Given the description of an element on the screen output the (x, y) to click on. 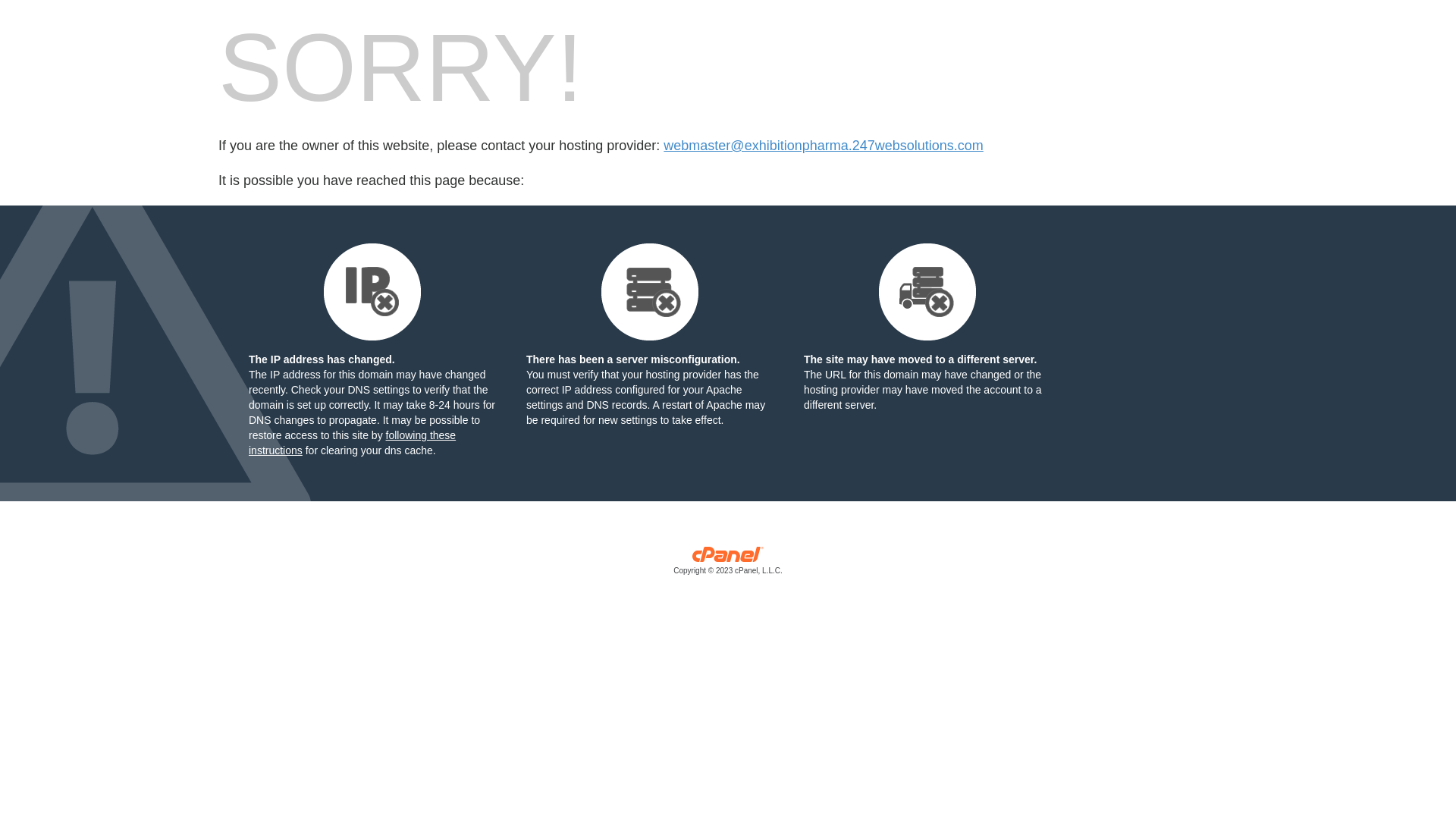
webmaster@exhibitionpharma.247websolutions.com Element type: text (823, 145)
following these instructions Element type: text (351, 442)
